Given the description of an element on the screen output the (x, y) to click on. 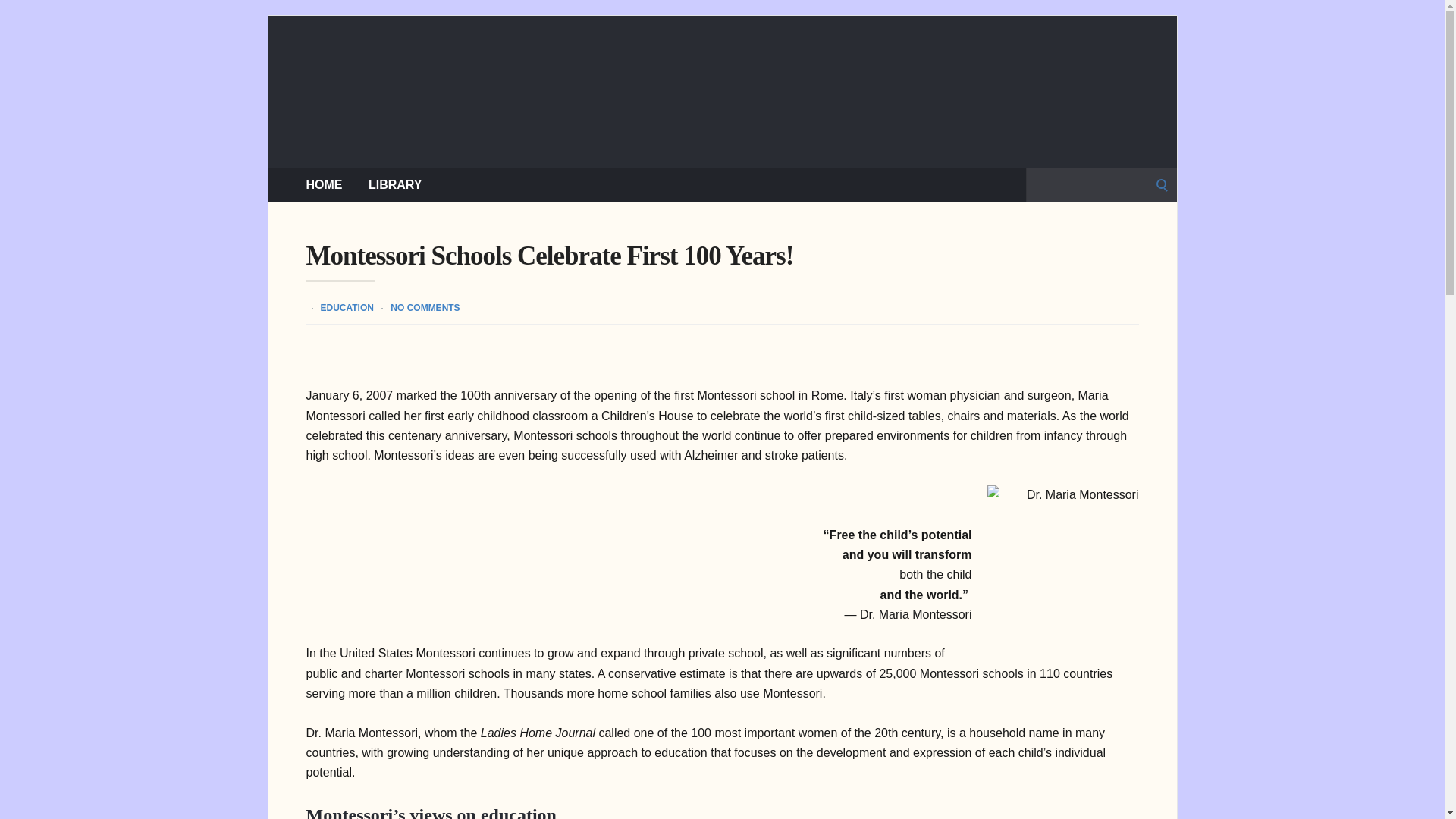
LIBRARY (395, 184)
Search (16, 17)
EDUCATION (346, 307)
HOME (323, 184)
NO COMMENTS (425, 307)
